Given the description of an element on the screen output the (x, y) to click on. 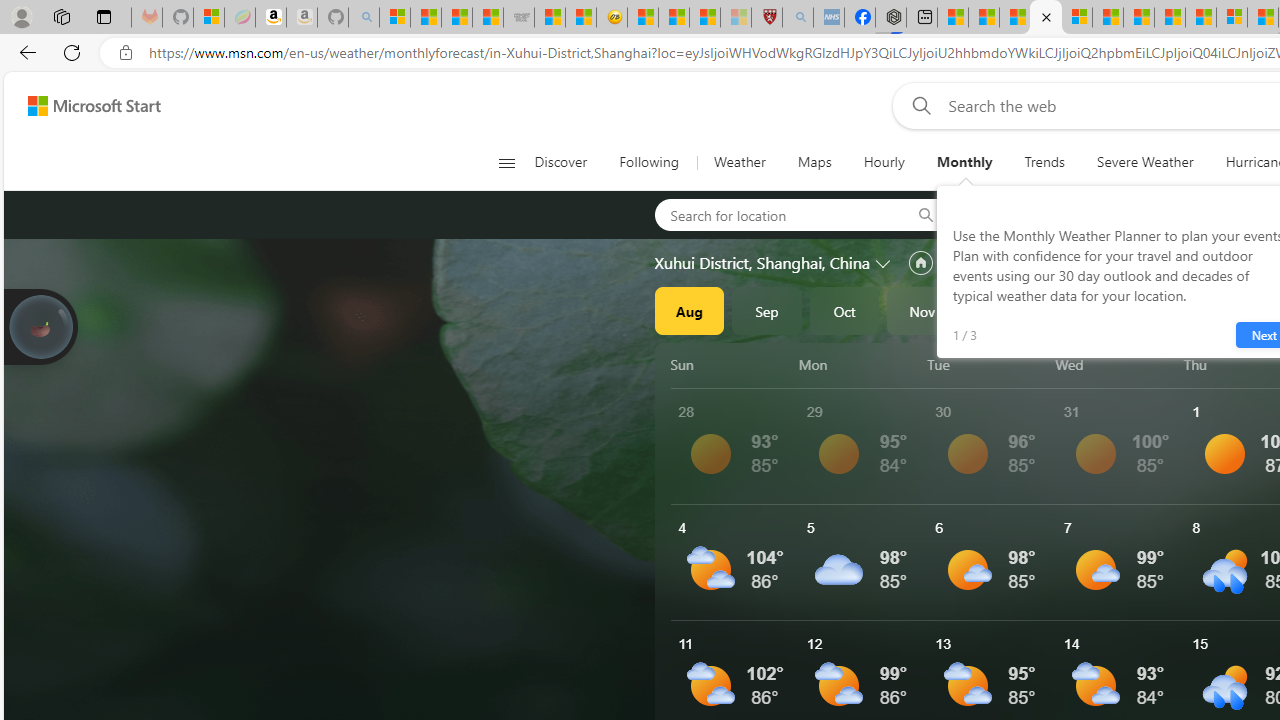
Maps (813, 162)
Join us in planting real trees to help our planet! (40, 325)
Nov (922, 310)
Oct (844, 310)
